Given the description of an element on the screen output the (x, y) to click on. 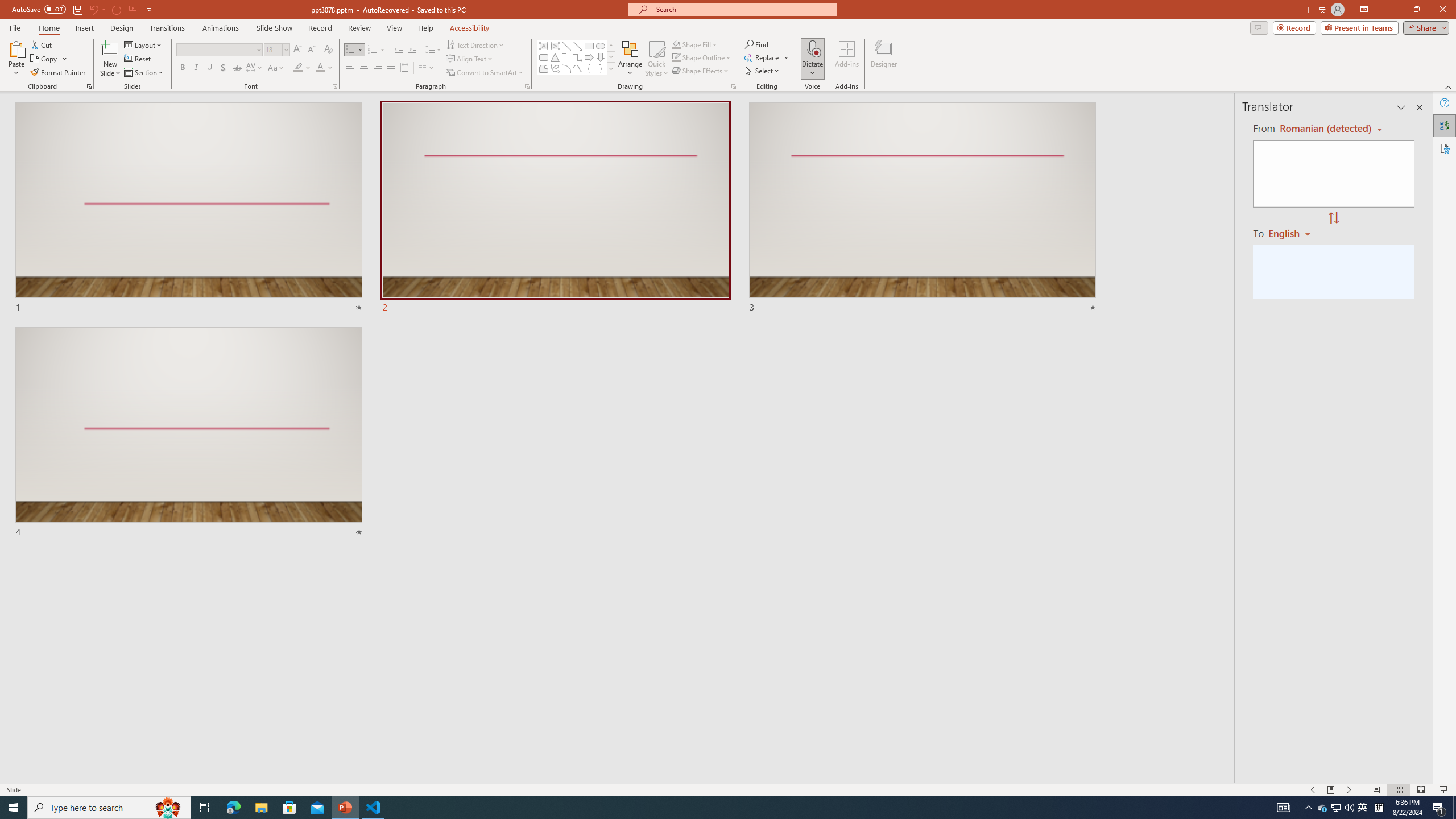
Line Arrow (577, 45)
Menu On (1331, 790)
Underline (209, 67)
Paste (16, 58)
Bullets (349, 49)
New Slide (110, 58)
Quick Access Toolbar (82, 9)
Character Spacing (254, 67)
AutoSave (38, 9)
Replace... (762, 56)
Transitions (167, 28)
Accessibility (1444, 147)
Text Highlight Color Yellow (297, 67)
Find... (756, 44)
Italic (195, 67)
